Given the description of an element on the screen output the (x, y) to click on. 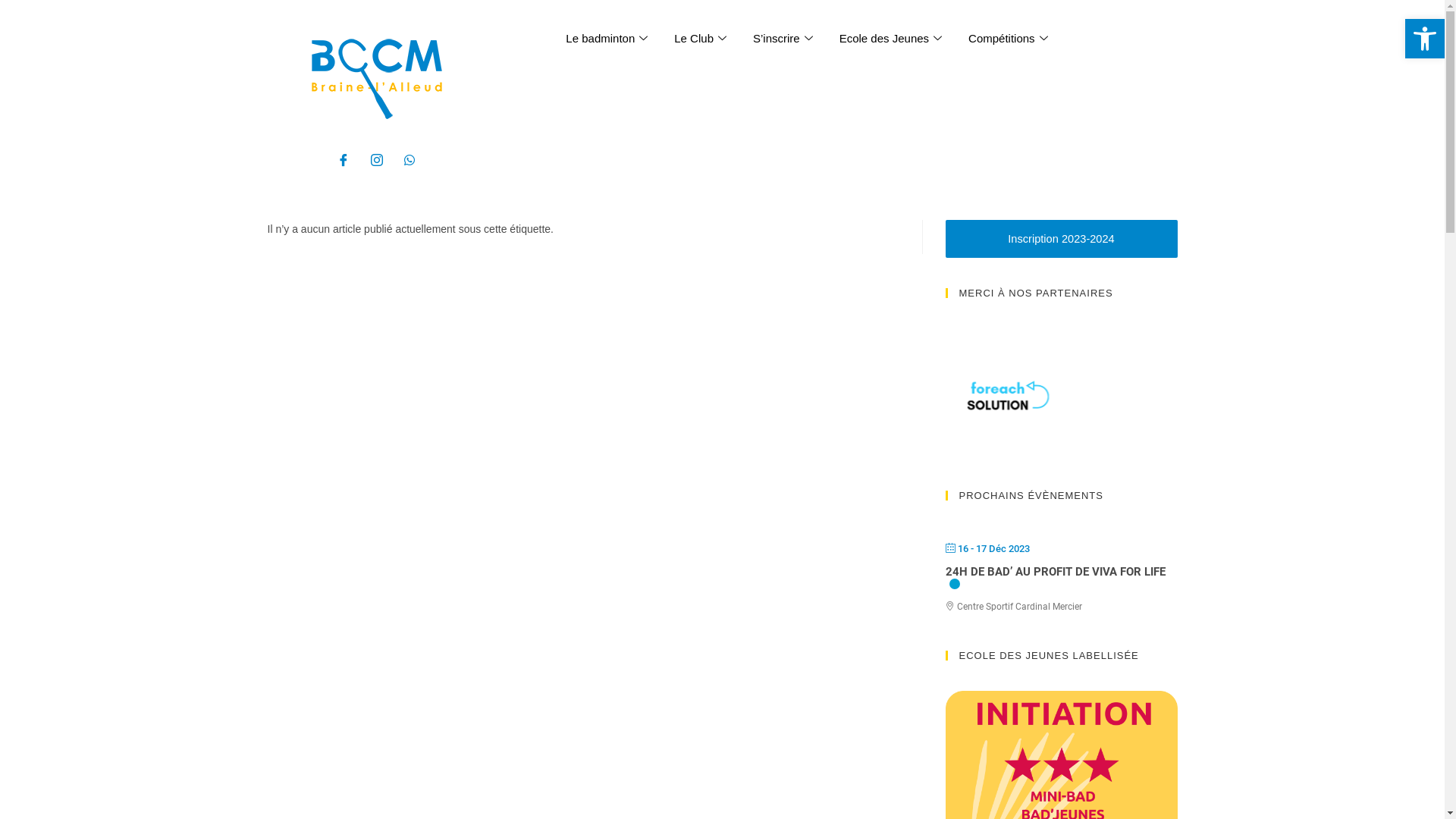
Le Club Element type: text (701, 37)
Allegro Element type: hover (903, 393)
Ecole des Jeunes Element type: text (892, 37)
Inscription 2023-2024 Element type: text (1060, 238)
Le badminton Element type: text (608, 37)
Foreach Solution Element type: hover (1021, 393)
